Given the description of an element on the screen output the (x, y) to click on. 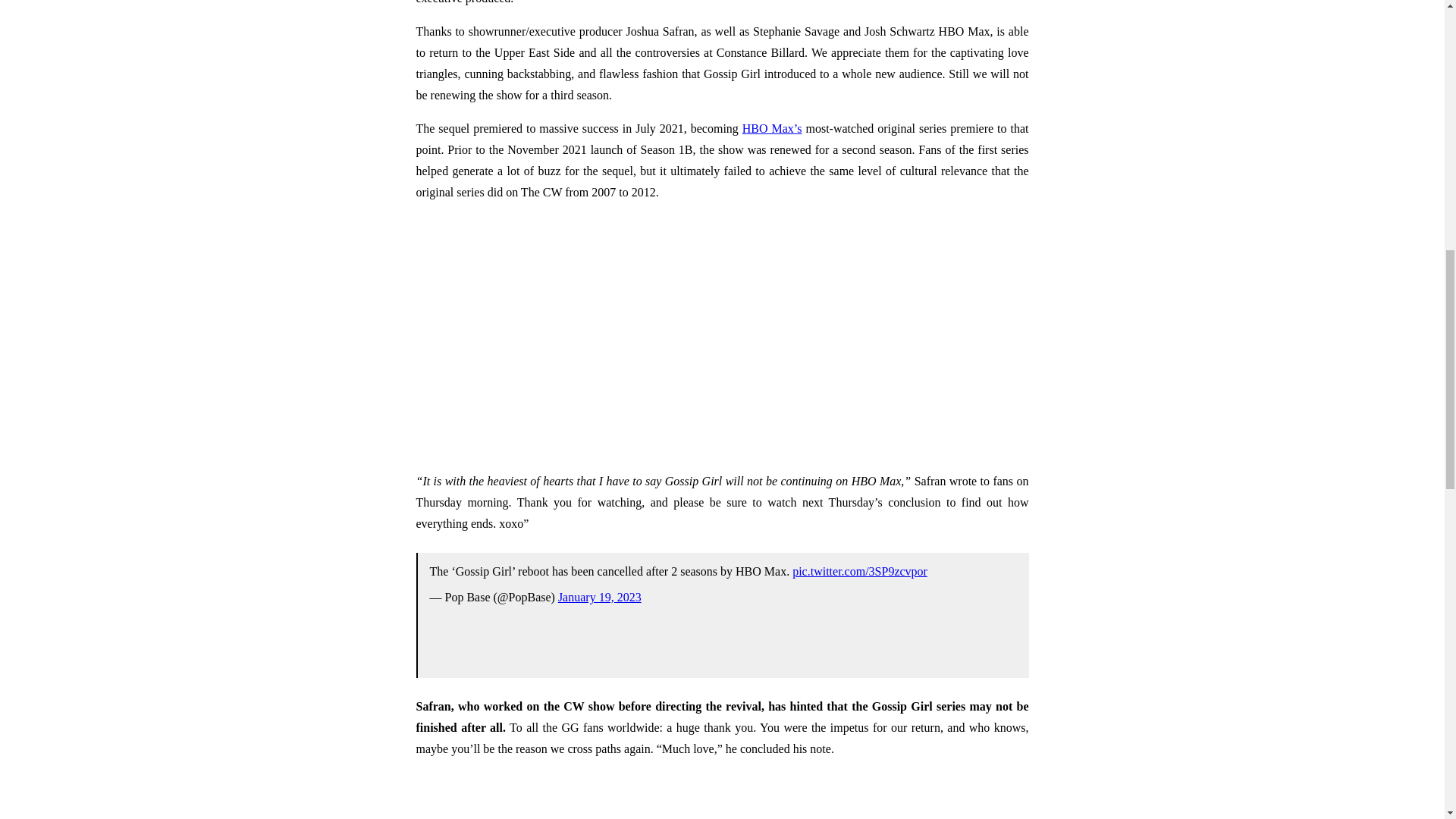
January 19, 2023 (599, 596)
3rd party ad content (720, 795)
Twitter (720, 621)
